Given the description of an element on the screen output the (x, y) to click on. 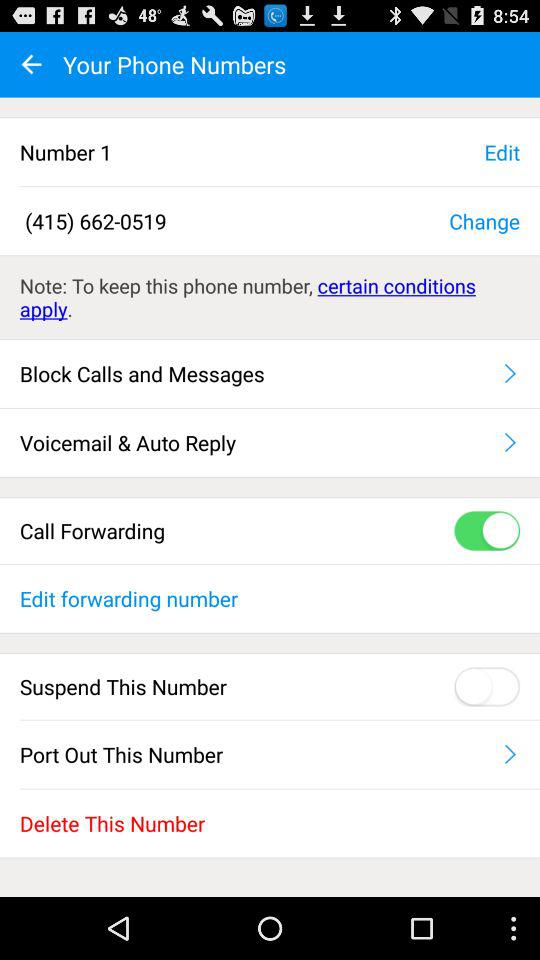
open the icon next to the  (415) 662-0519 (484, 220)
